Given the description of an element on the screen output the (x, y) to click on. 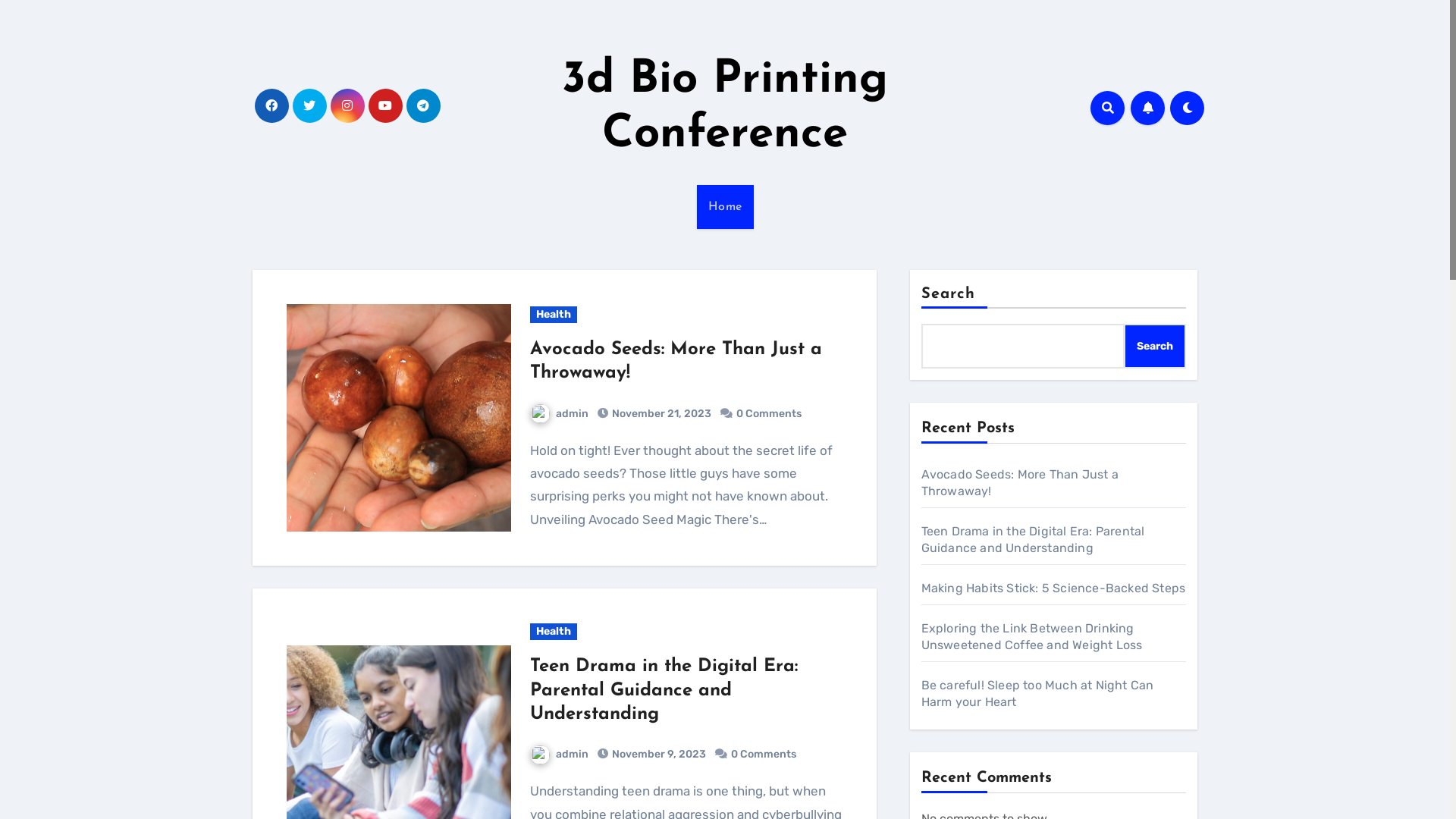
0 Comments Element type: text (767, 413)
Search Element type: text (1154, 345)
November 21, 2023 Element type: text (660, 413)
Health Element type: text (552, 631)
Health Element type: text (552, 314)
Home Element type: text (724, 207)
November 9, 2023 Element type: text (658, 753)
0 Comments Element type: text (763, 753)
3d Bio Printing Conference Element type: text (724, 107)
Making Habits Stick: 5 Science-Backed Steps Element type: text (1053, 587)
Avocado Seeds: More Than Just a Throwaway! Element type: text (1019, 482)
admin Element type: text (558, 413)
Be careful! Sleep too Much at Night Can Harm your Heart Element type: text (1037, 693)
admin Element type: text (558, 753)
Avocado Seeds: More Than Just a Throwaway! Element type: text (675, 361)
